Given the description of an element on the screen output the (x, y) to click on. 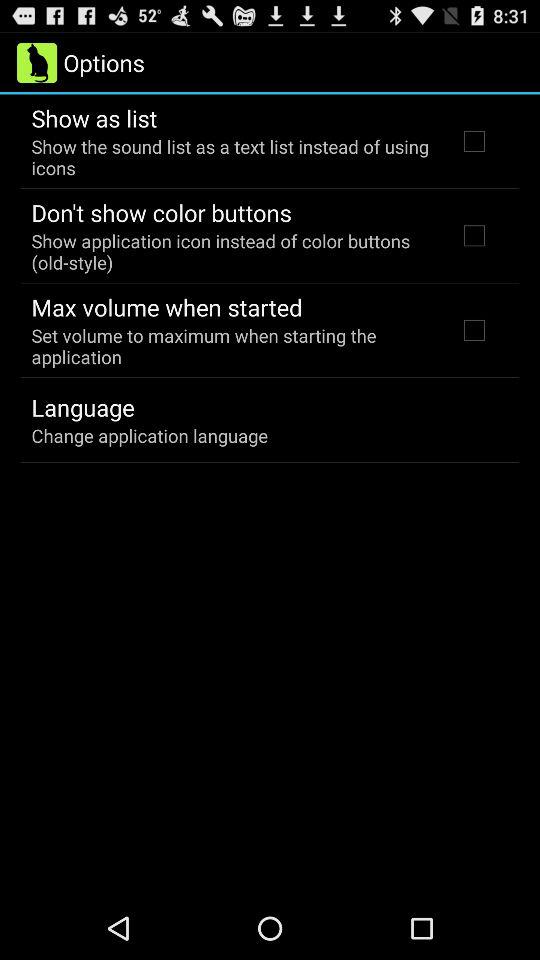
turn on the item above don t show app (231, 157)
